Given the description of an element on the screen output the (x, y) to click on. 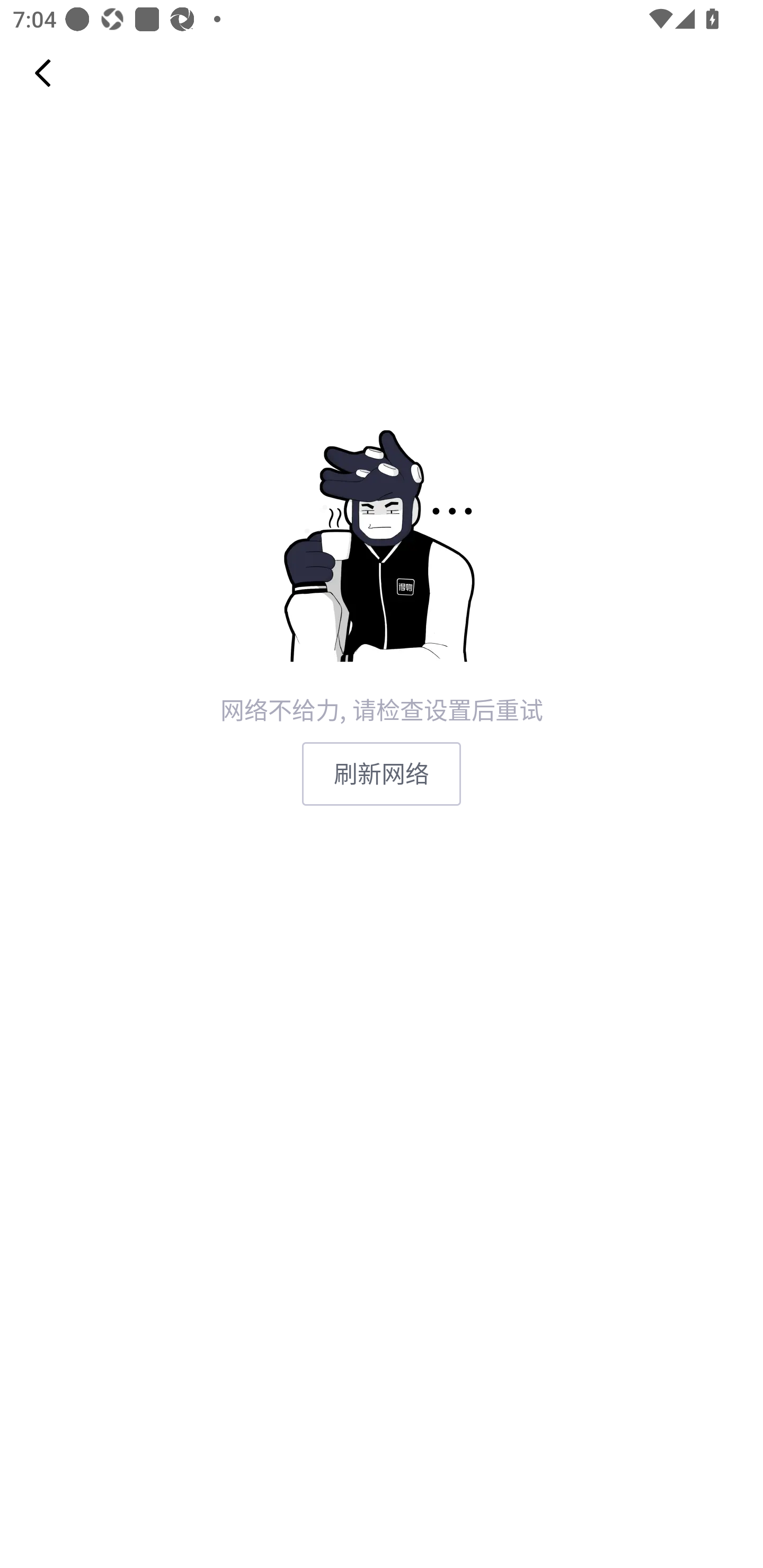
刷新网络 (381, 773)
